Given the description of an element on the screen output the (x, y) to click on. 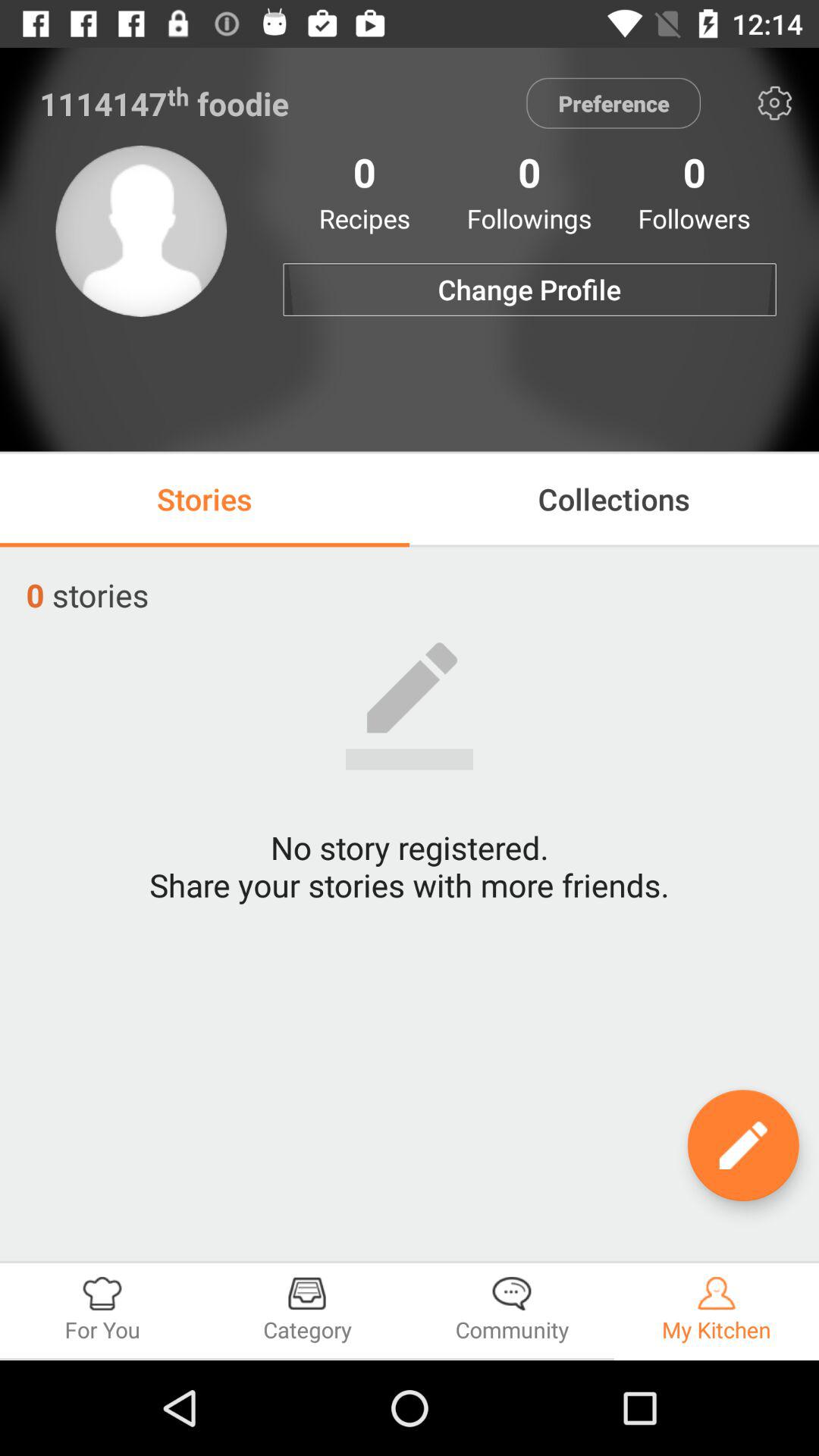
edit option (743, 1145)
